Given the description of an element on the screen output the (x, y) to click on. 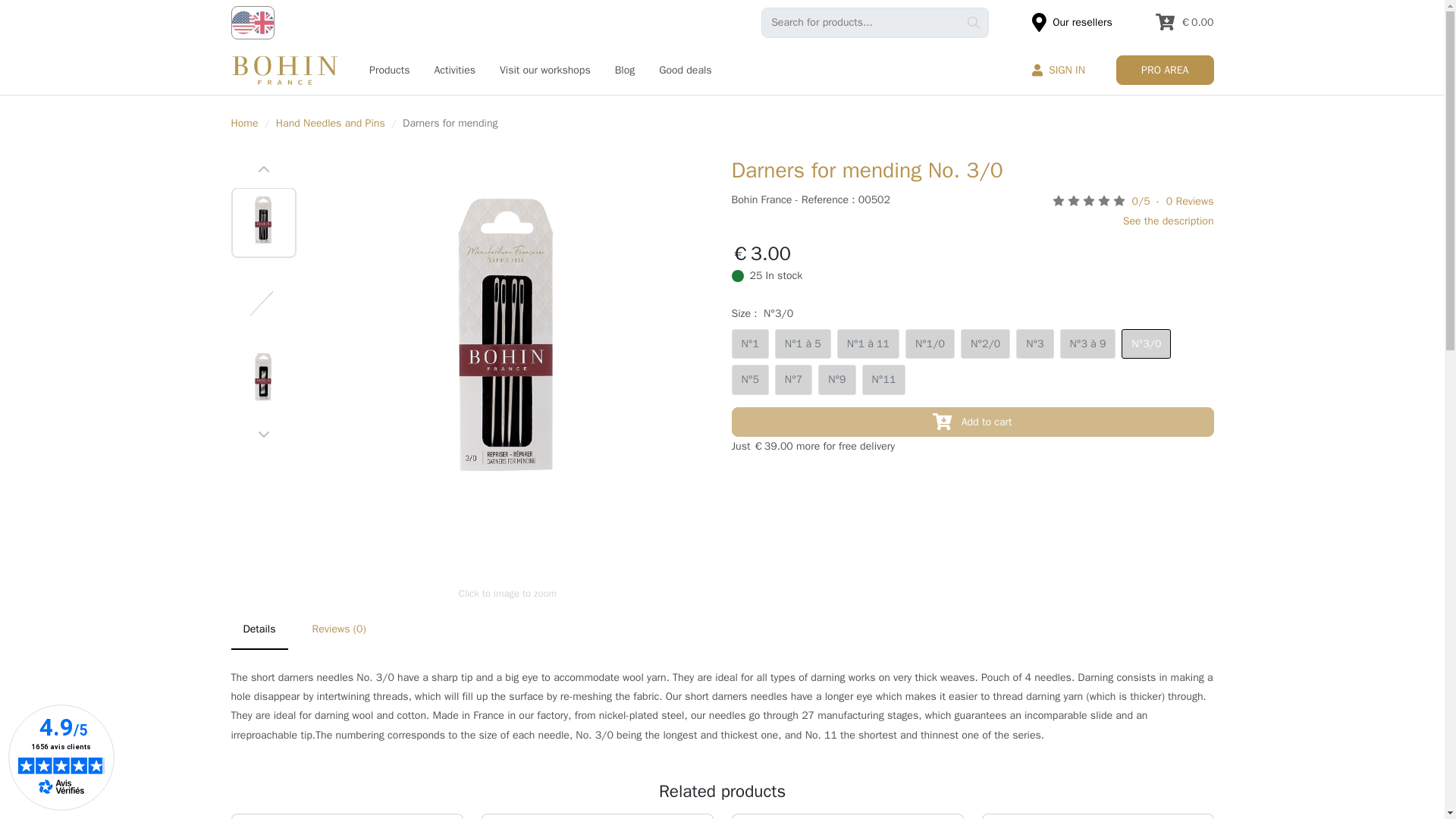
Our resellers (1072, 21)
